Given the description of an element on the screen output the (x, y) to click on. 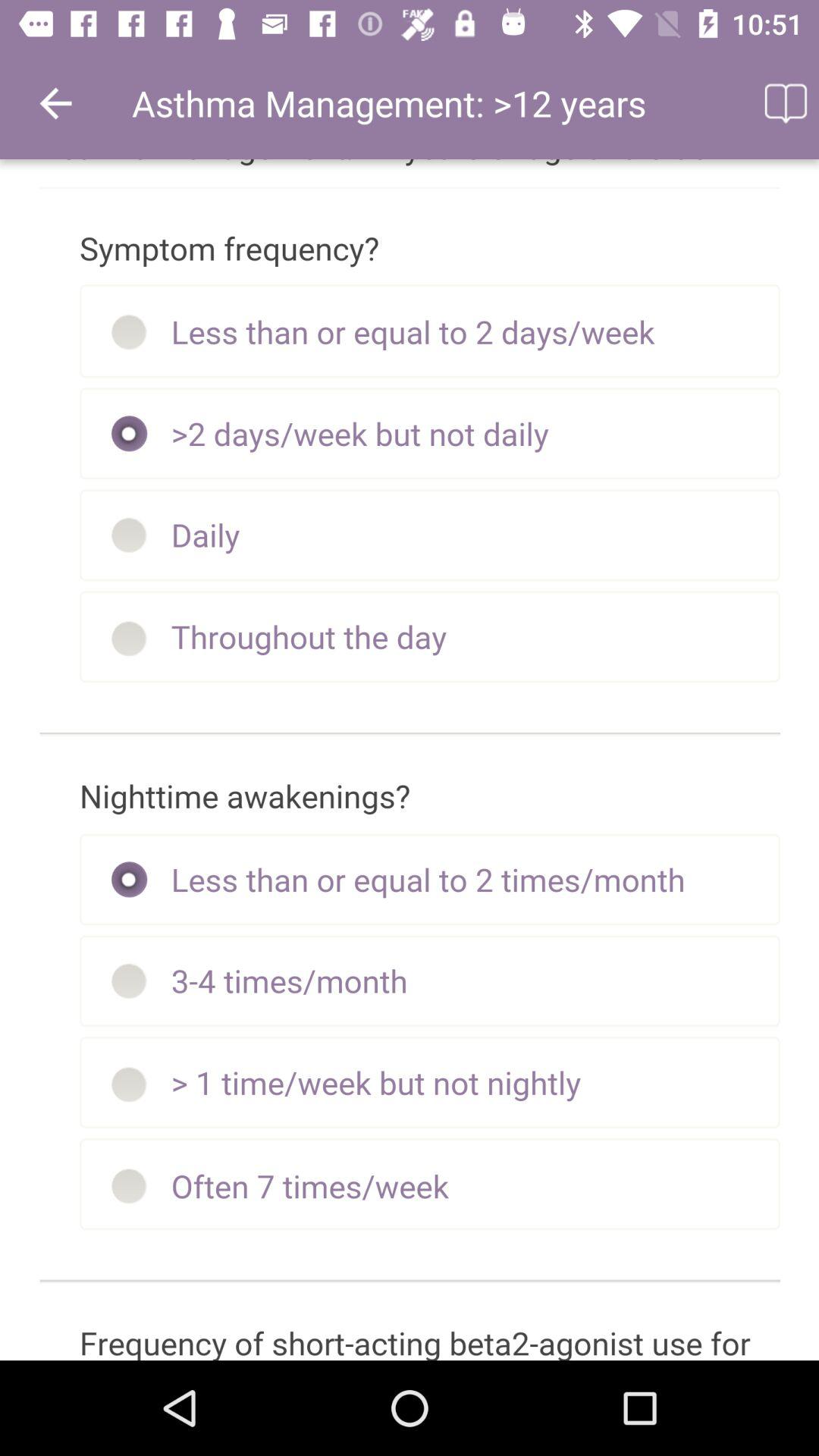
read about this (784, 103)
